Given the description of an element on the screen output the (x, y) to click on. 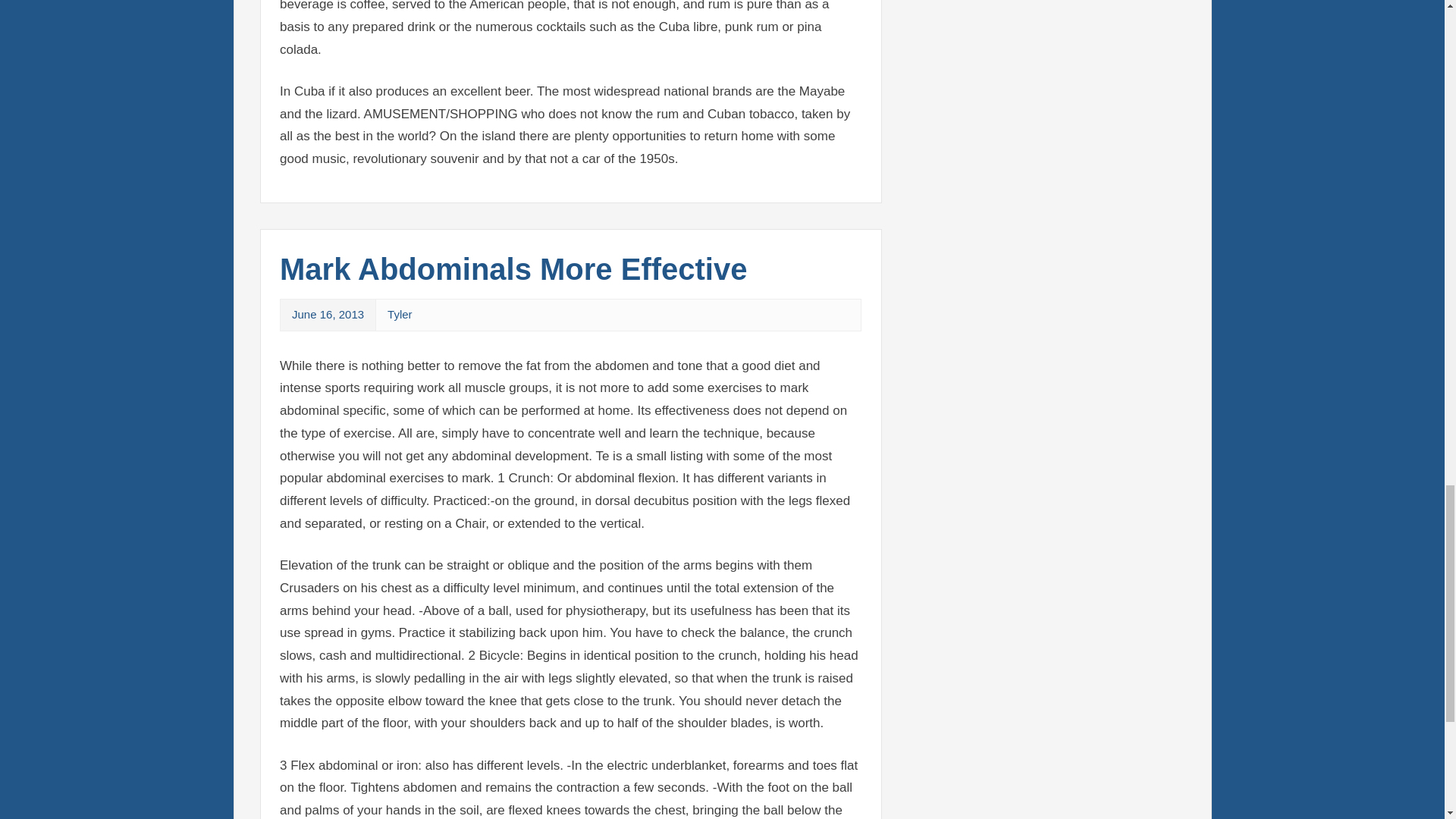
7:18 am (328, 314)
Tyler (399, 314)
June 16, 2013 (328, 314)
Mark Abdominals More Effective (512, 268)
View all posts by Tyler (399, 314)
